Given the description of an element on the screen output the (x, y) to click on. 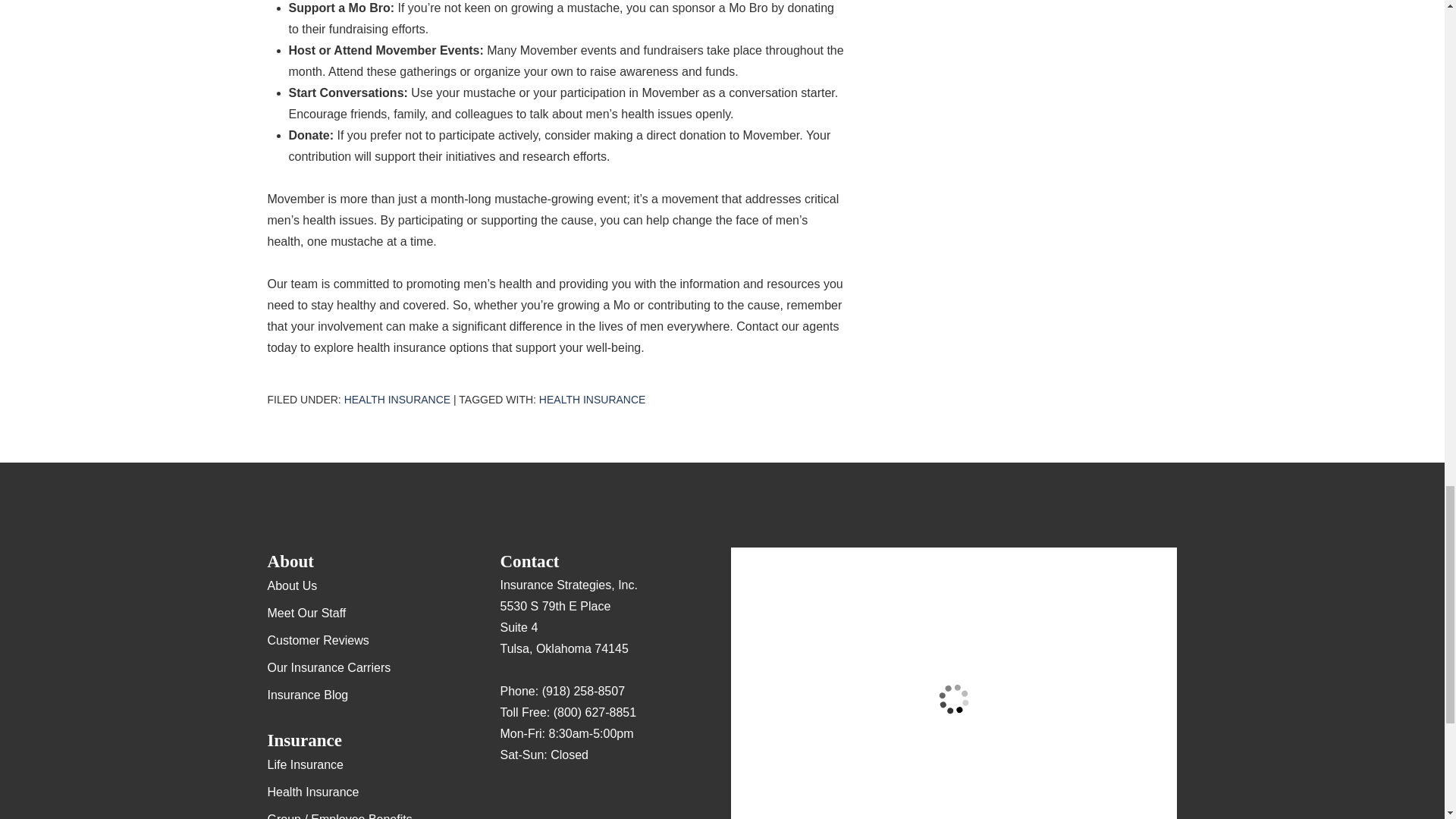
Facebook (571, 799)
Yelp (541, 799)
Health Insurance (397, 399)
Google Maps (511, 799)
Health Insurance (592, 399)
